Given the description of an element on the screen output the (x, y) to click on. 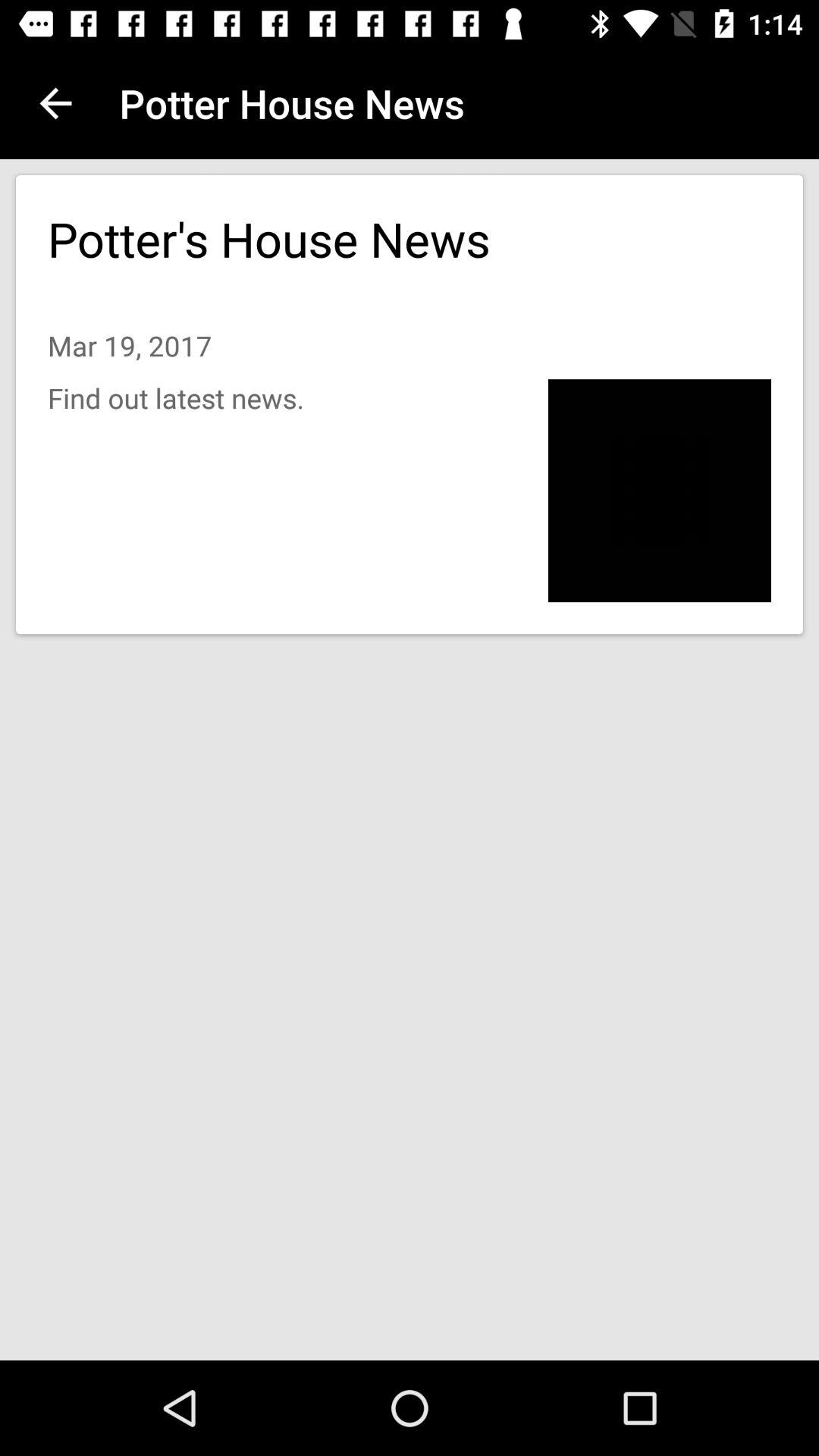
select item at the top left corner (55, 103)
